Given the description of an element on the screen output the (x, y) to click on. 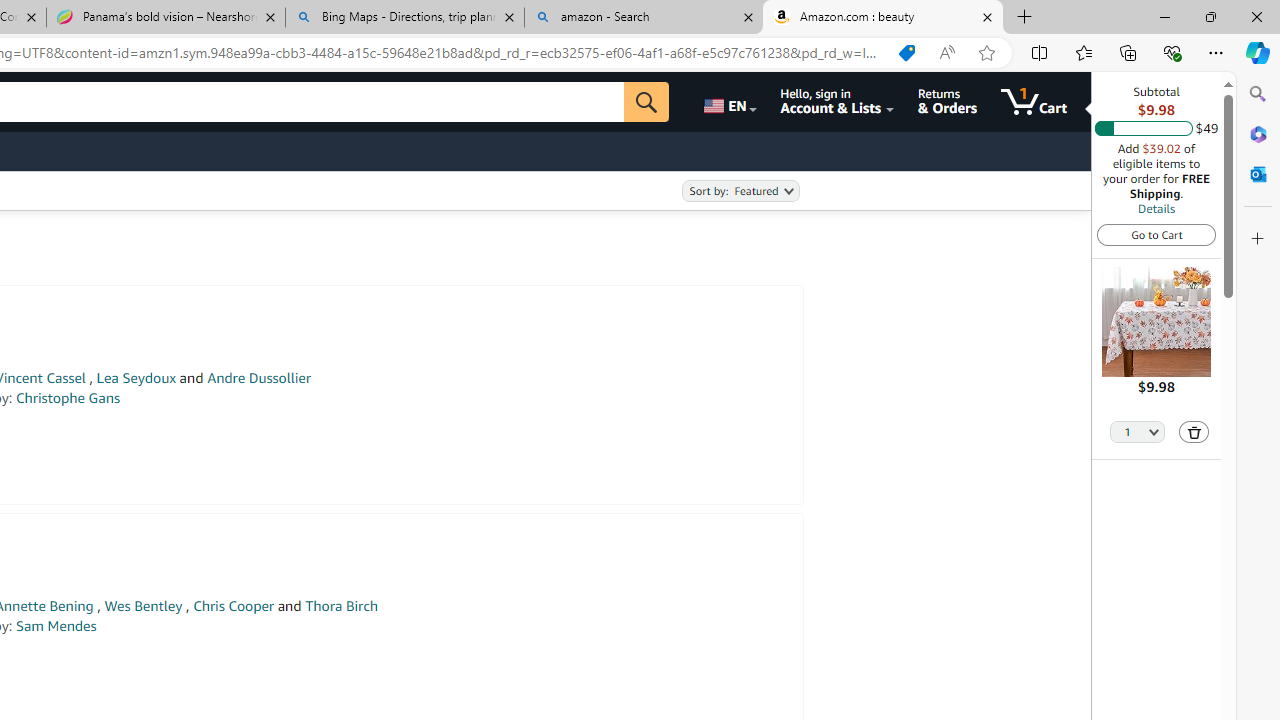
1 item in cart (1034, 101)
Hello, sign in Account & Lists (836, 101)
Andre Dussollier (259, 378)
Quantity Selector (1137, 430)
Go to Cart (1156, 234)
Details (1156, 208)
Delete (1194, 431)
Go (646, 101)
Lea Seydoux (136, 378)
